Given the description of an element on the screen output the (x, y) to click on. 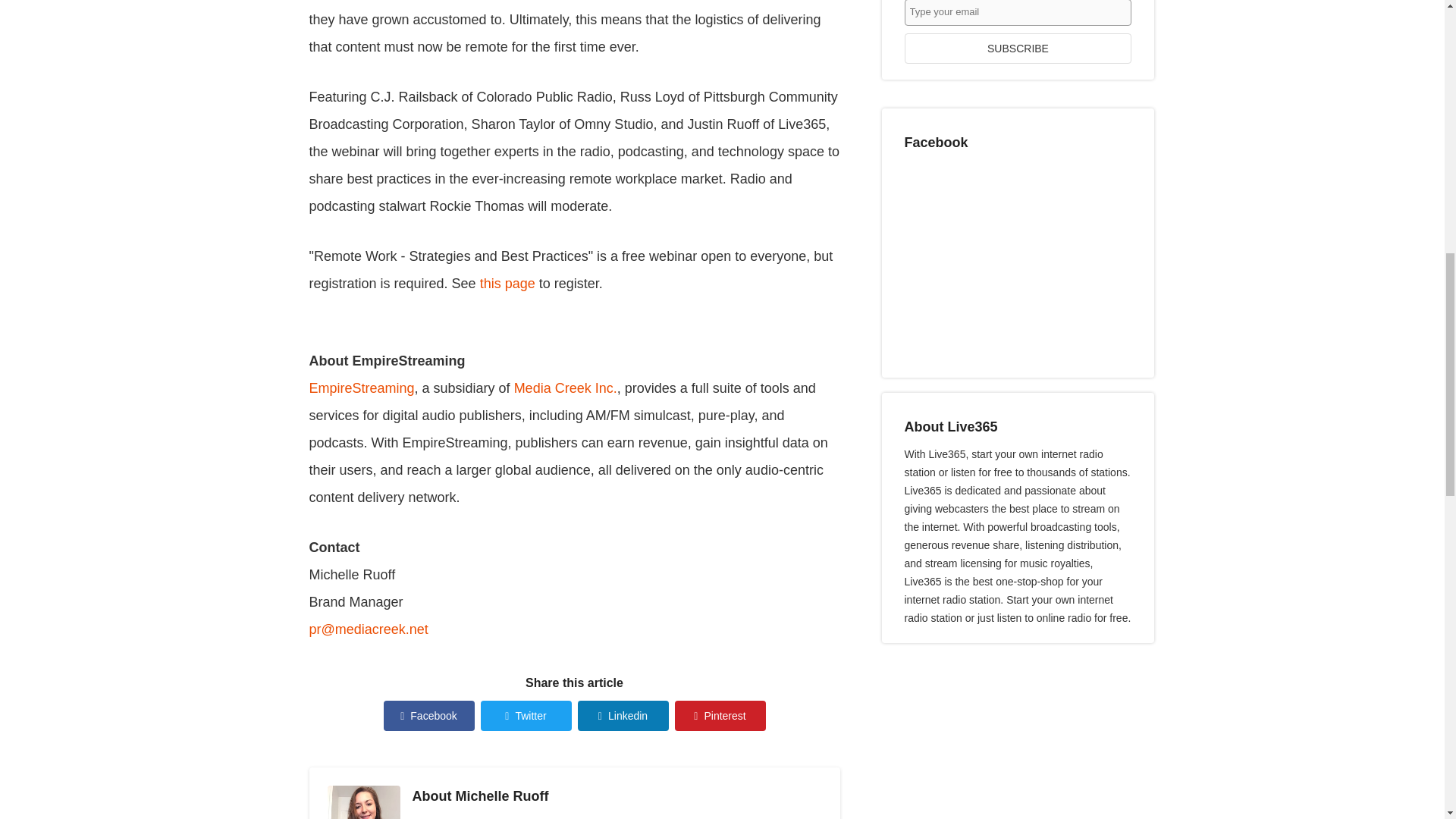
this page (507, 283)
Linkedin (623, 716)
Twitter (526, 716)
Share on Facebook (429, 716)
Share on Twitter (526, 716)
Share on Linkedin (623, 716)
Michelle Ruoff (501, 795)
Media Creek Inc. (565, 387)
Share on Pinterest (720, 716)
Pinterest (720, 716)
